Given the description of an element on the screen output the (x, y) to click on. 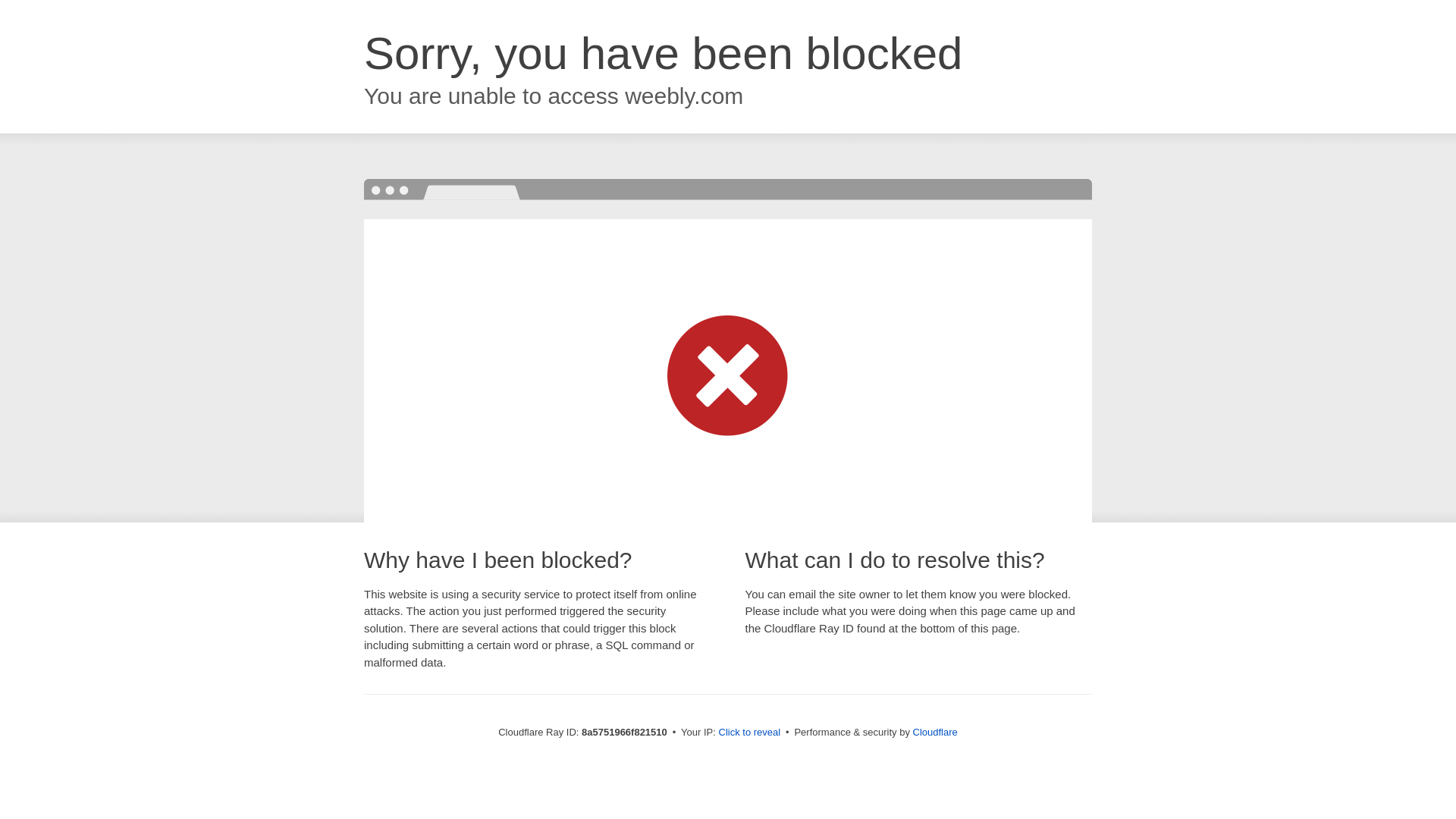
Cloudflare (935, 731)
Click to reveal (749, 732)
